Given the description of an element on the screen output the (x, y) to click on. 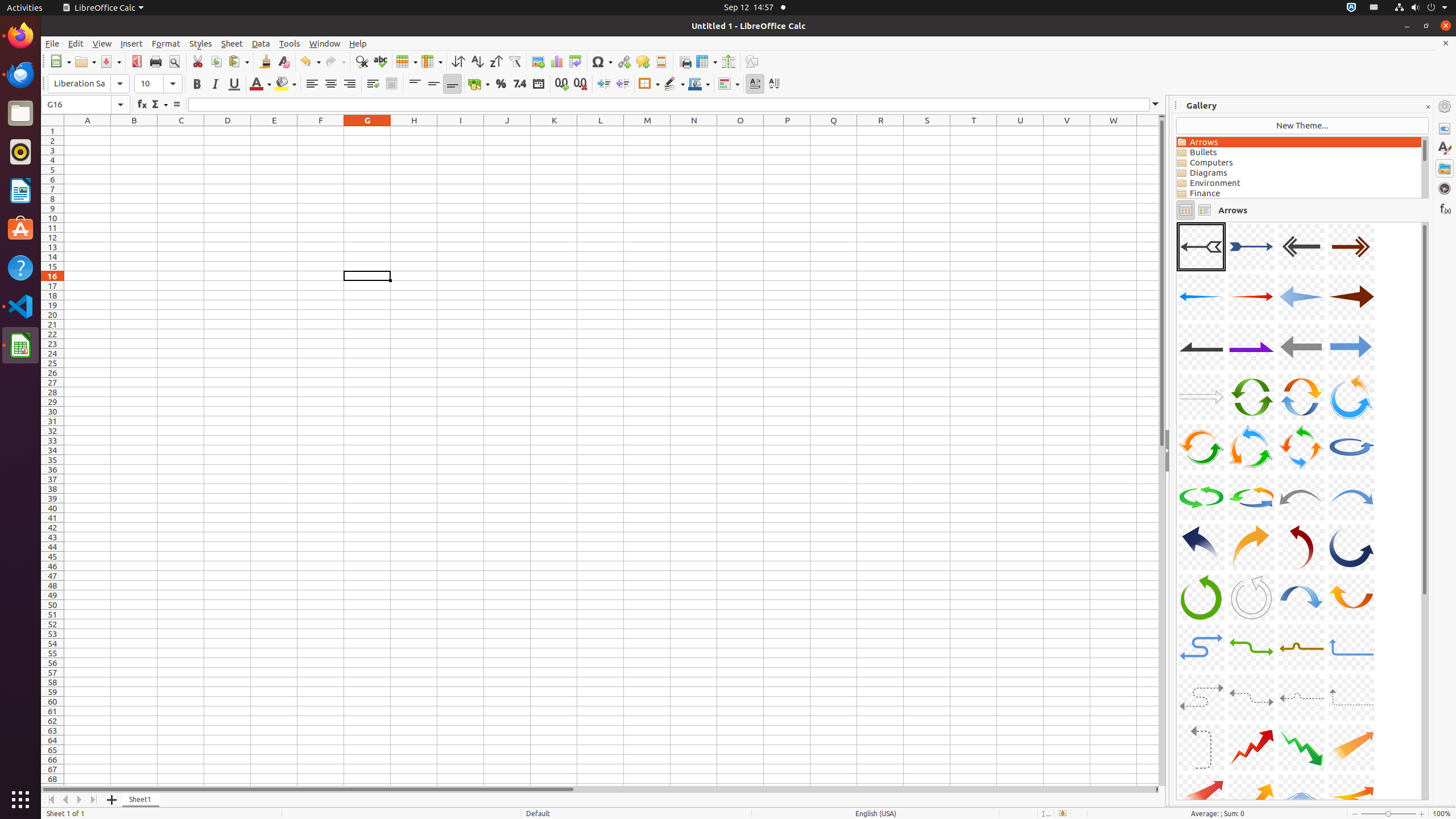
U1 Element type: table-cell (1020, 130)
Sort Element type: push-button (457, 61)
N1 Element type: table-cell (693, 130)
K1 Element type: table-cell (553, 130)
Properties Element type: radio-button (1444, 128)
